Given the description of an element on the screen output the (x, y) to click on. 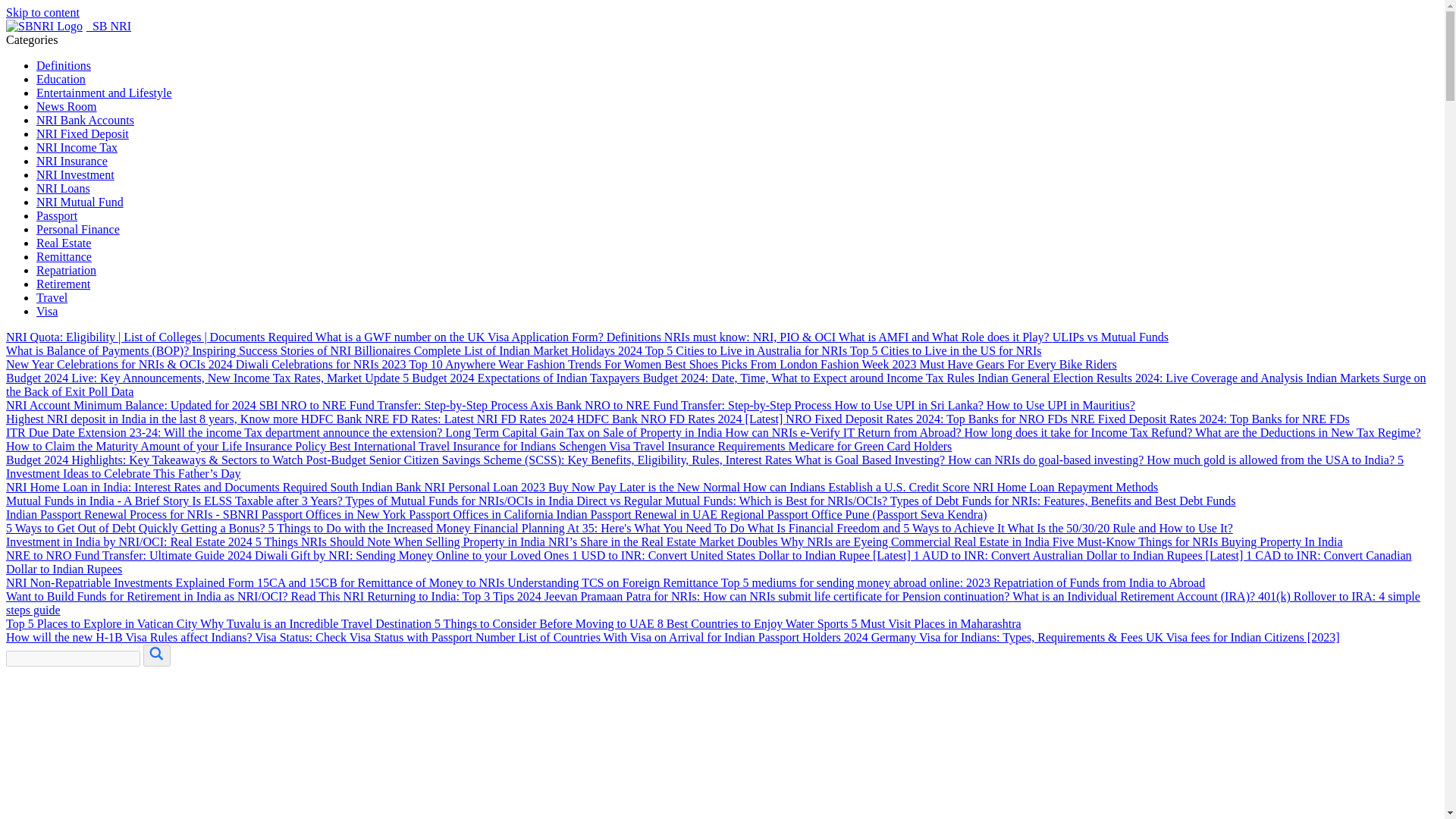
Inspiring Success Stories of NRI Billionaires (302, 350)
Skip to content (42, 11)
Visa (47, 310)
Diwali Celebrations for NRIs 2023 (322, 364)
Personal Finance (77, 228)
Remittance (63, 256)
SBNRI (68, 25)
NRI Bank Accounts (84, 119)
Real Estate (63, 242)
5 Budget 2024 Expectations of Indian Taxpayers (522, 377)
ULIPs vs Mutual Funds (1110, 336)
Repatriation (66, 269)
Complete List of Indian Market Holidays 2024 (529, 350)
